Given the description of an element on the screen output the (x, y) to click on. 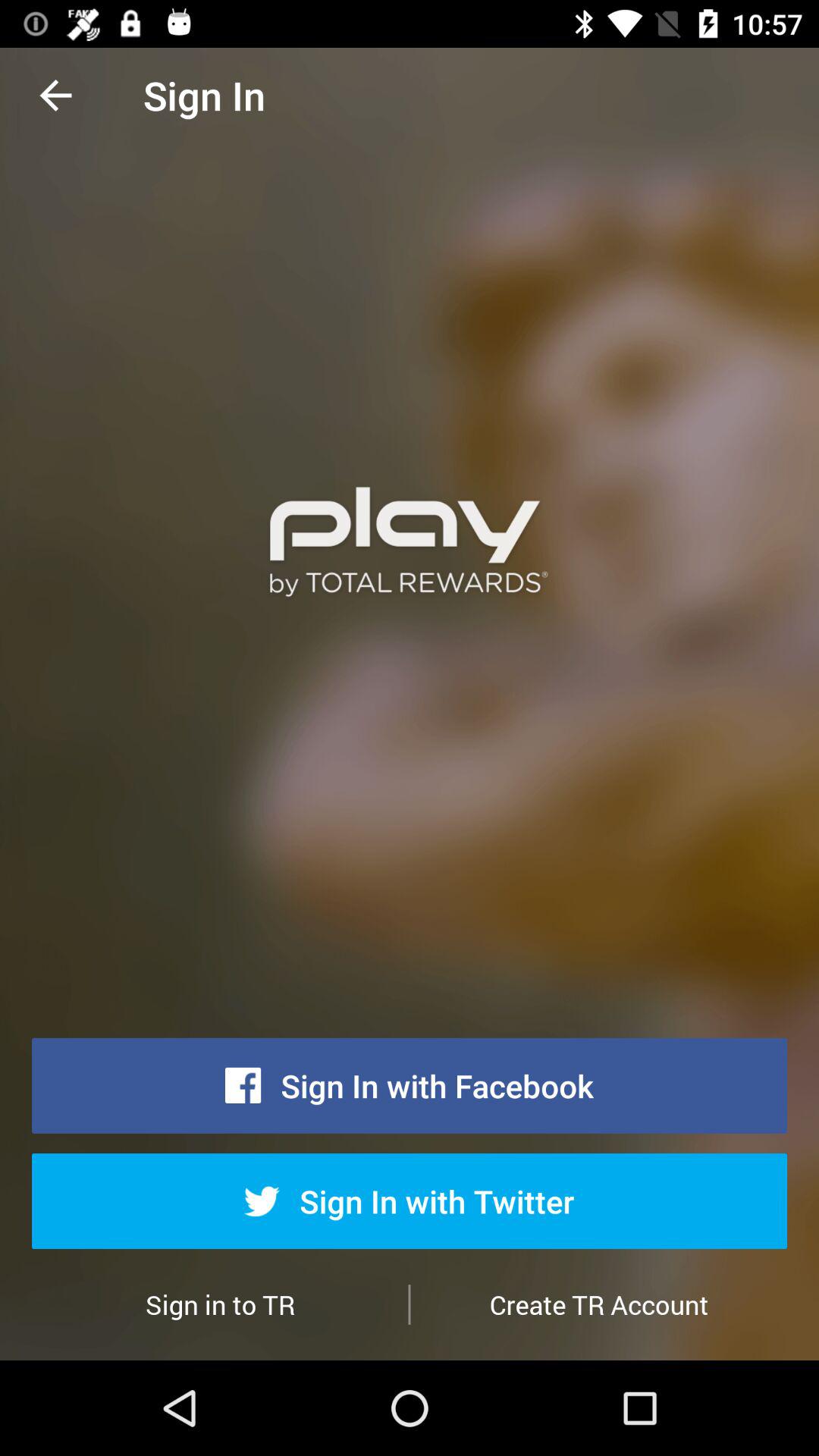
select the create tr account (598, 1304)
